Given the description of an element on the screen output the (x, y) to click on. 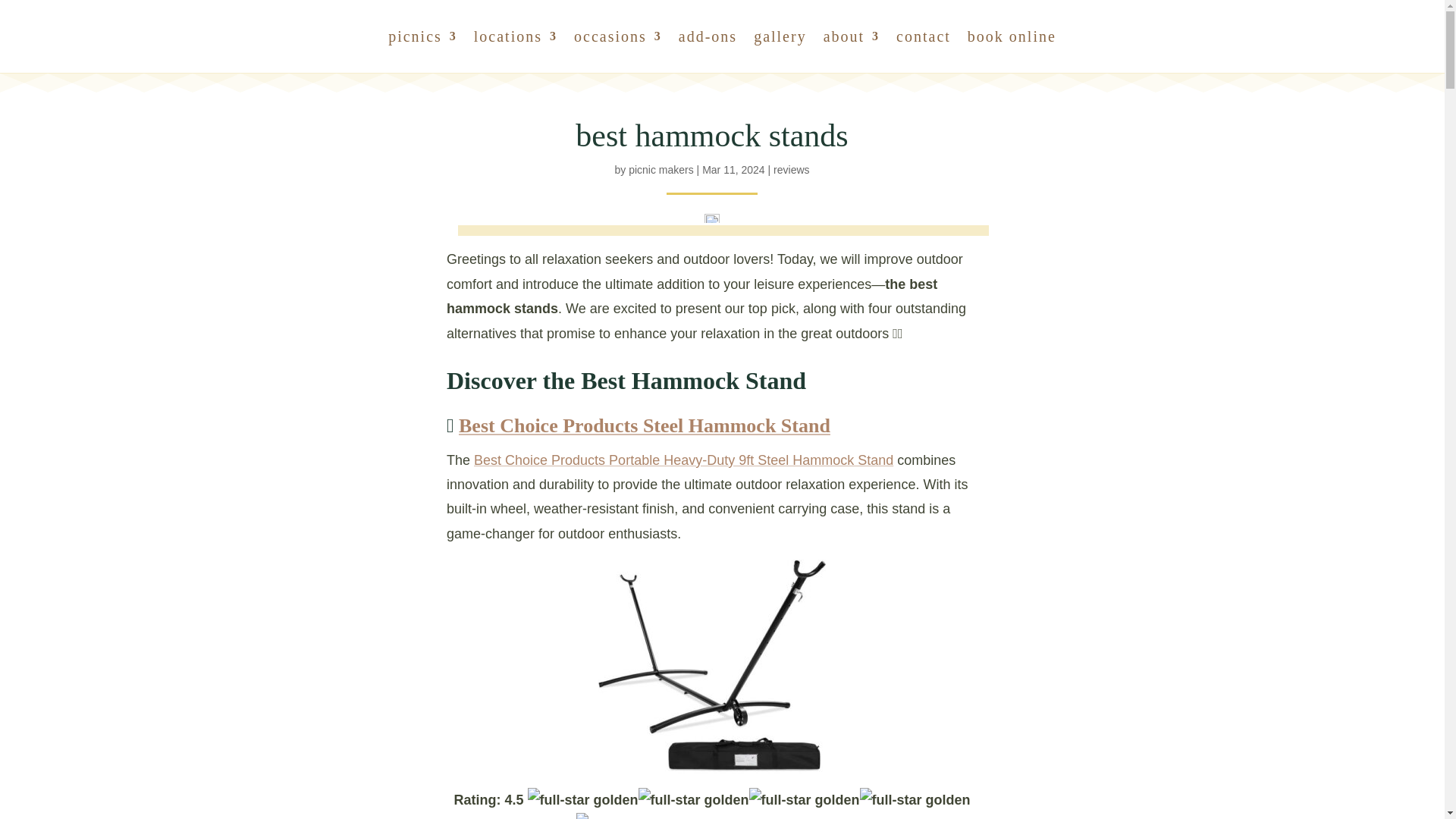
book online (1012, 36)
add-ons (707, 36)
gallery (780, 36)
picnics (422, 36)
locations (515, 36)
occasions (617, 36)
contact (923, 36)
locations (515, 36)
about (851, 36)
